Given the description of an element on the screen output the (x, y) to click on. 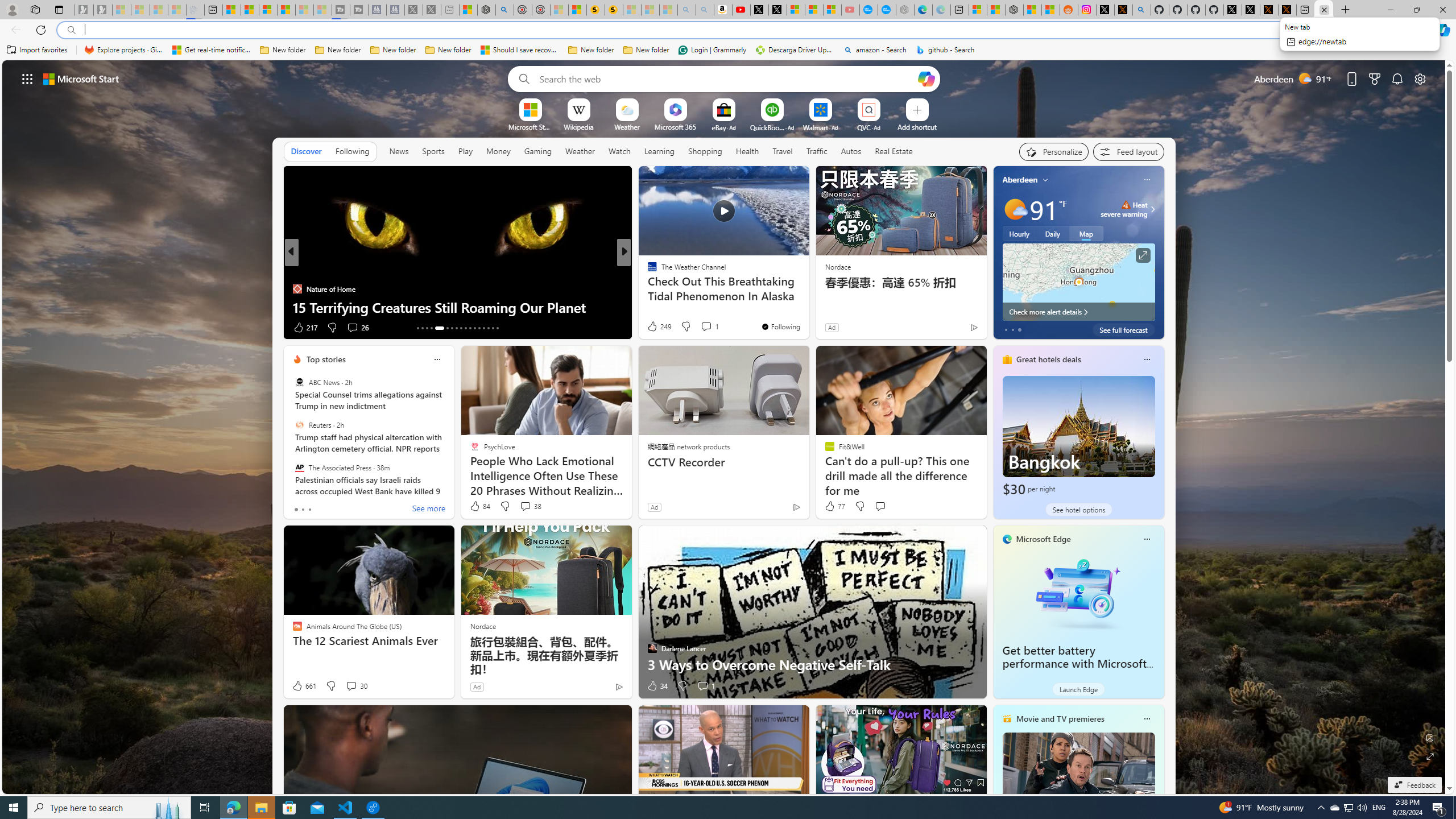
Fast Company (647, 270)
View comments 366 Comment (709, 327)
View comments 397 Comment (6, 327)
View comments 30 Comment (355, 685)
View comments 38 Comment (525, 505)
Verywell Mind (647, 288)
AutomationID: tab-20 (456, 328)
Top stories (325, 359)
Hourly (1018, 233)
AutomationID: tab-13 (417, 328)
